Given the description of an element on the screen output the (x, y) to click on. 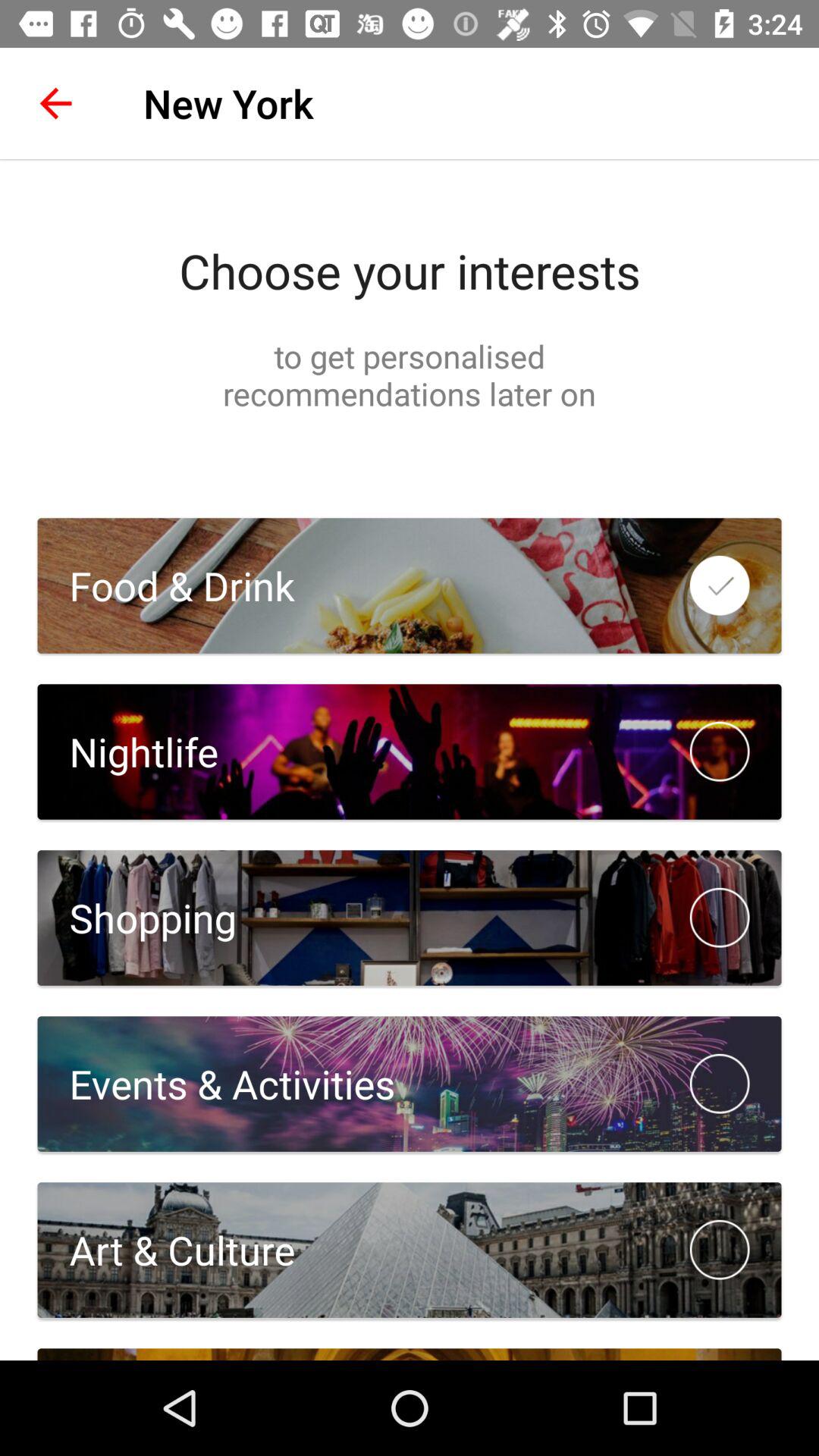
flip to the shopping (136, 917)
